Given the description of an element on the screen output the (x, y) to click on. 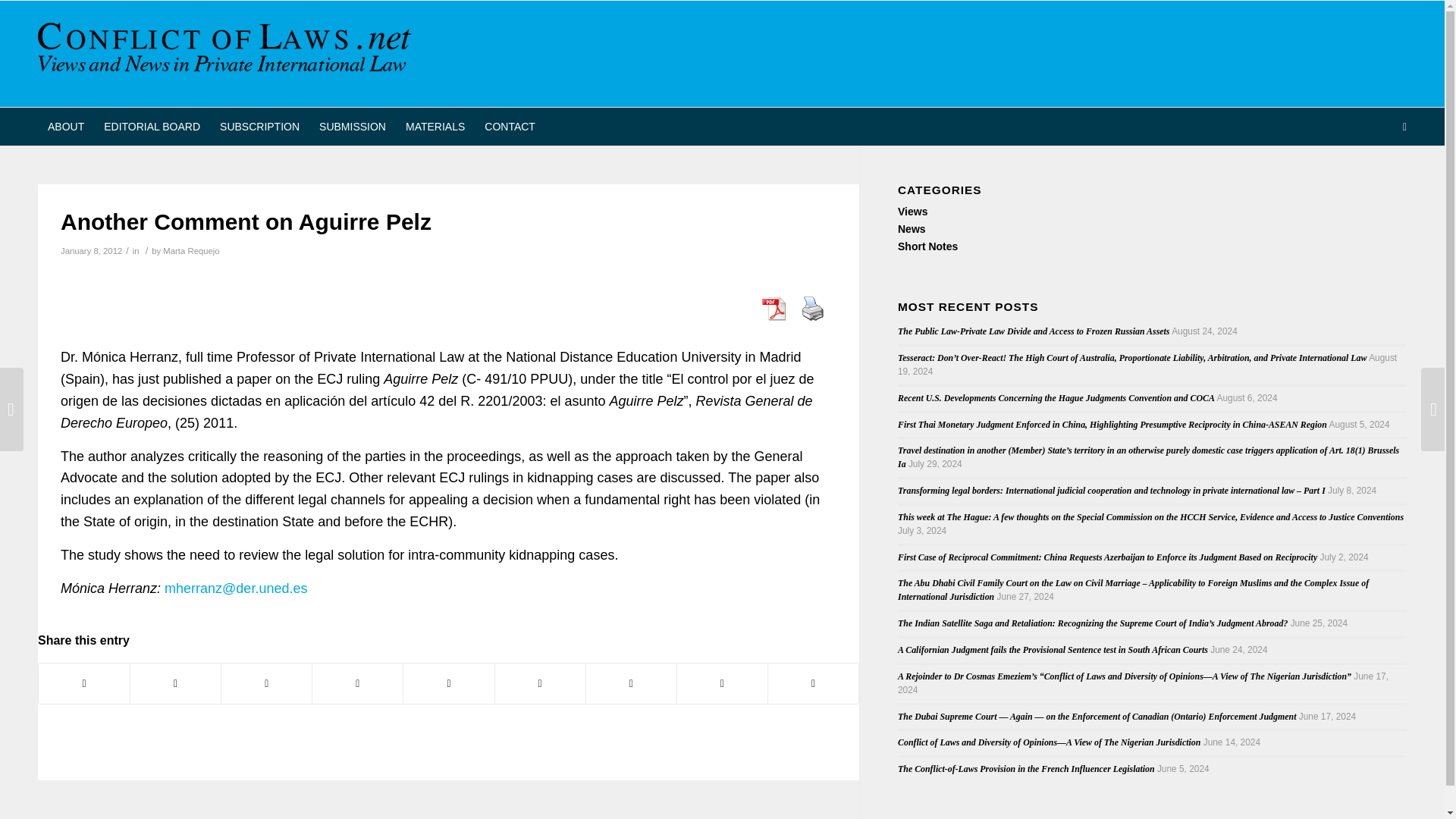
SUBMISSION (352, 126)
MATERIALS (435, 126)
ABOUT (65, 126)
News (912, 228)
SUBSCRIPTION (258, 126)
Print Content (812, 308)
